Given the description of an element on the screen output the (x, y) to click on. 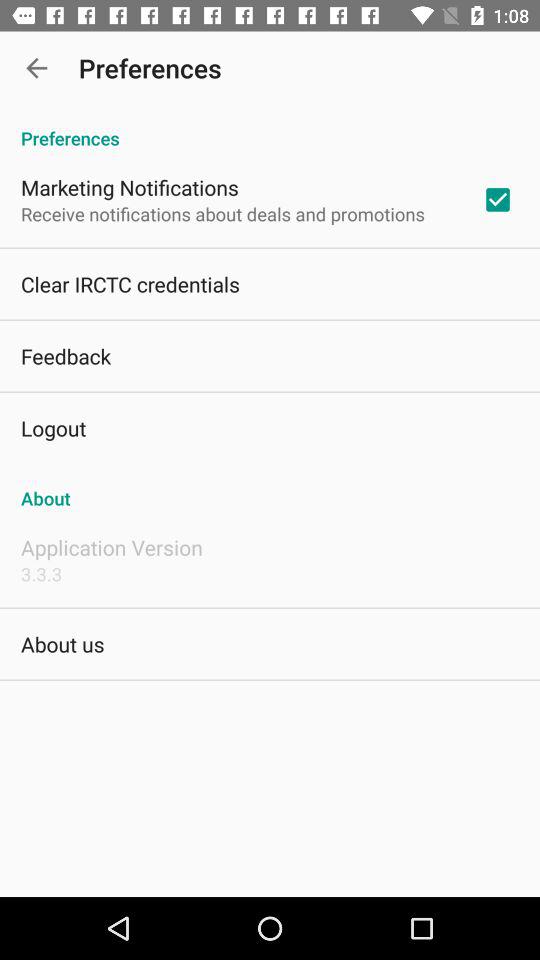
go to previous (36, 68)
